Given the description of an element on the screen output the (x, y) to click on. 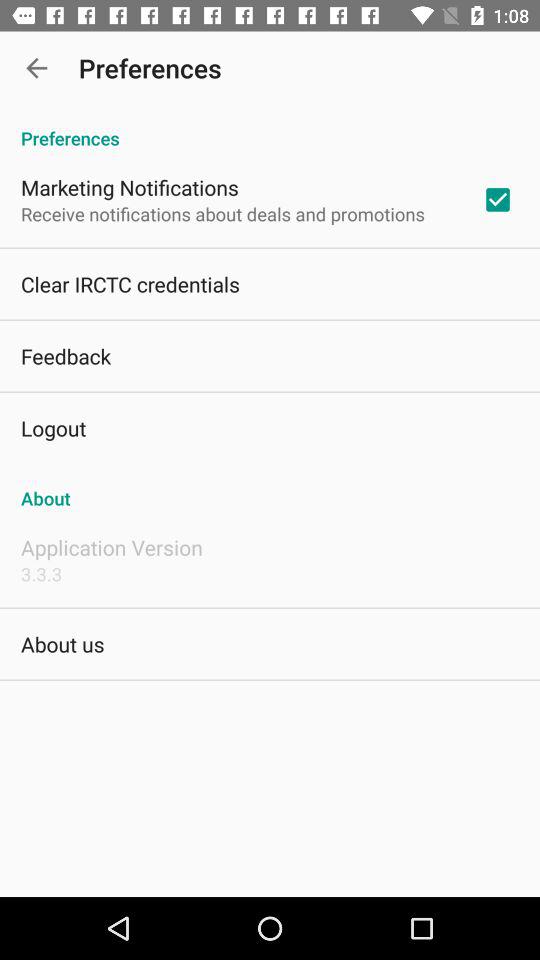
go to previous (36, 68)
